Given the description of an element on the screen output the (x, y) to click on. 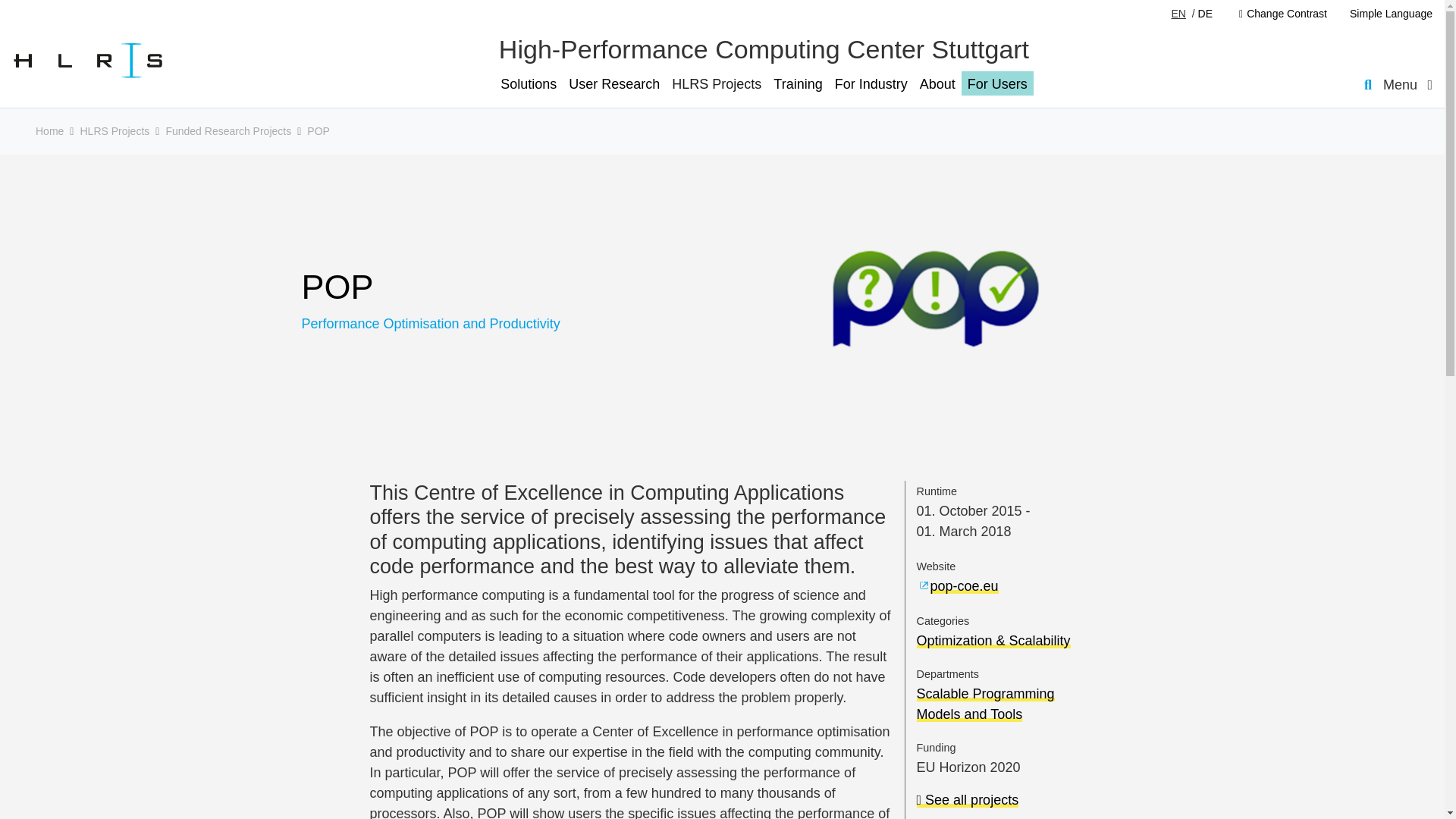
Training (797, 83)
For Users (996, 83)
POP website (963, 585)
For Industry (870, 83)
User Research (614, 83)
Simple Language (1385, 13)
HLRS Projects (716, 83)
Solutions (528, 83)
About (937, 83)
Change Contrast (1282, 13)
